Given the description of an element on the screen output the (x, y) to click on. 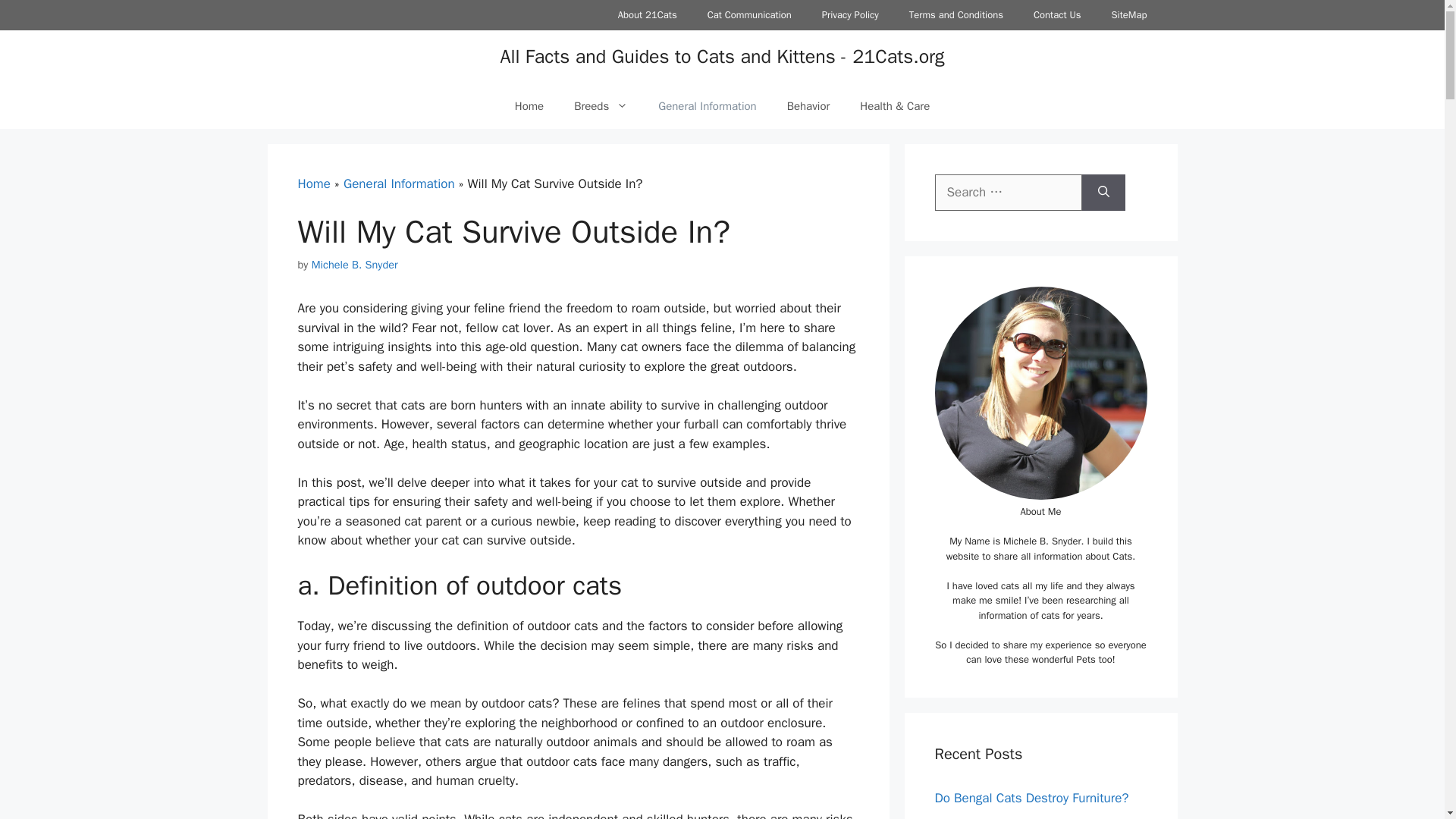
Do Bengal Cats Destroy Furniture? (1031, 797)
About 21Cats (647, 15)
SiteMap (1128, 15)
Privacy Policy (849, 15)
Contact Us (1056, 15)
Terms and Conditions (955, 15)
Michele B. Snyder (354, 264)
Behavior (808, 105)
Cat Communication (749, 15)
Home (313, 183)
Home (529, 105)
General Information (707, 105)
Why Do Cats Have Funny 5 Minutes? (1037, 817)
Breeds (601, 105)
General Information (398, 183)
